Given the description of an element on the screen output the (x, y) to click on. 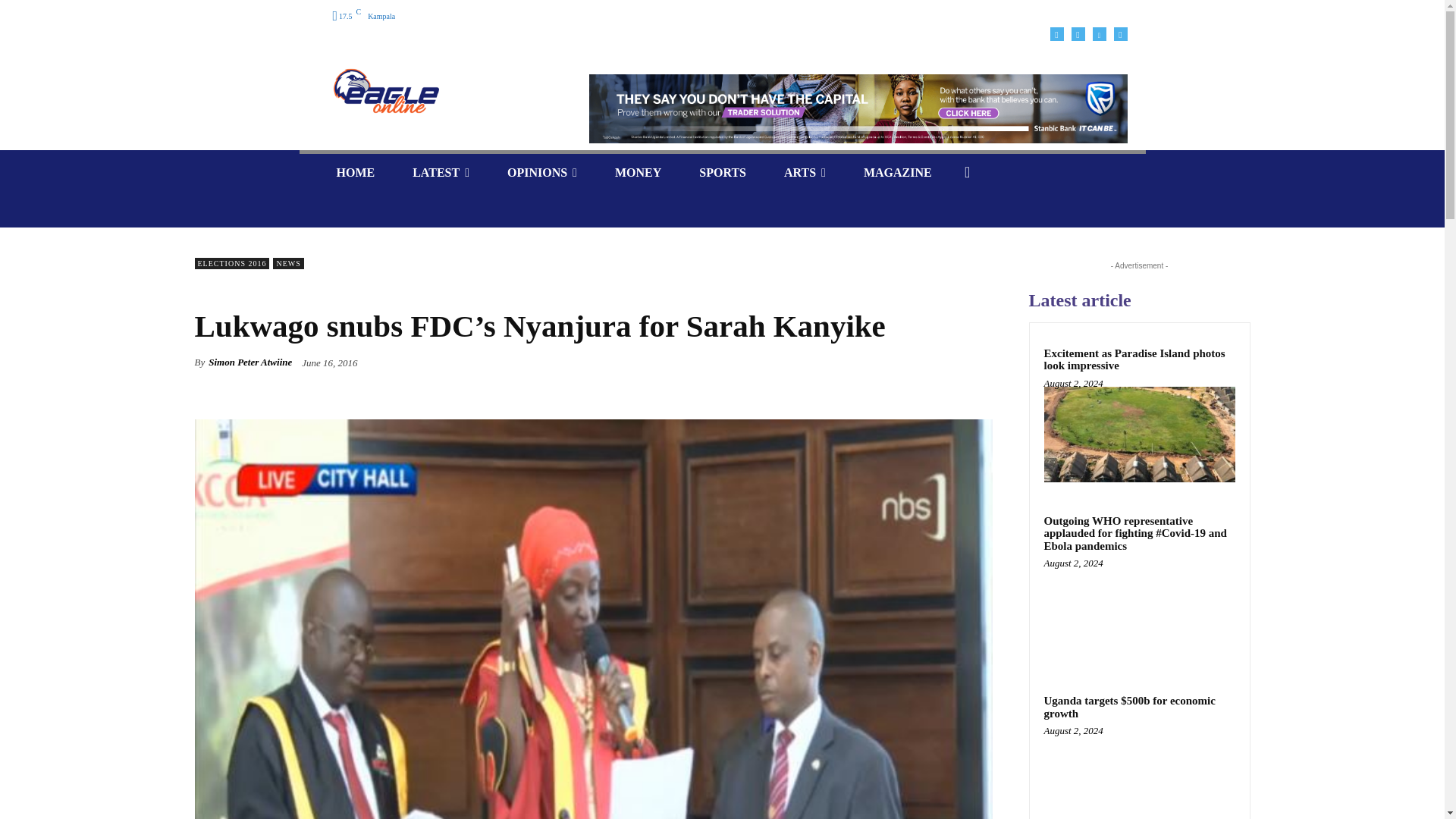
Eagle Online (440, 90)
Eagle Online (385, 90)
Instagram (1077, 33)
HOME (355, 171)
SPORTS (722, 171)
ARTS (804, 171)
OPINIONS (541, 171)
Linkedin (1098, 33)
Facebook (1055, 33)
LATEST (440, 171)
Twitter (1119, 33)
MONEY (637, 171)
